Given the description of an element on the screen output the (x, y) to click on. 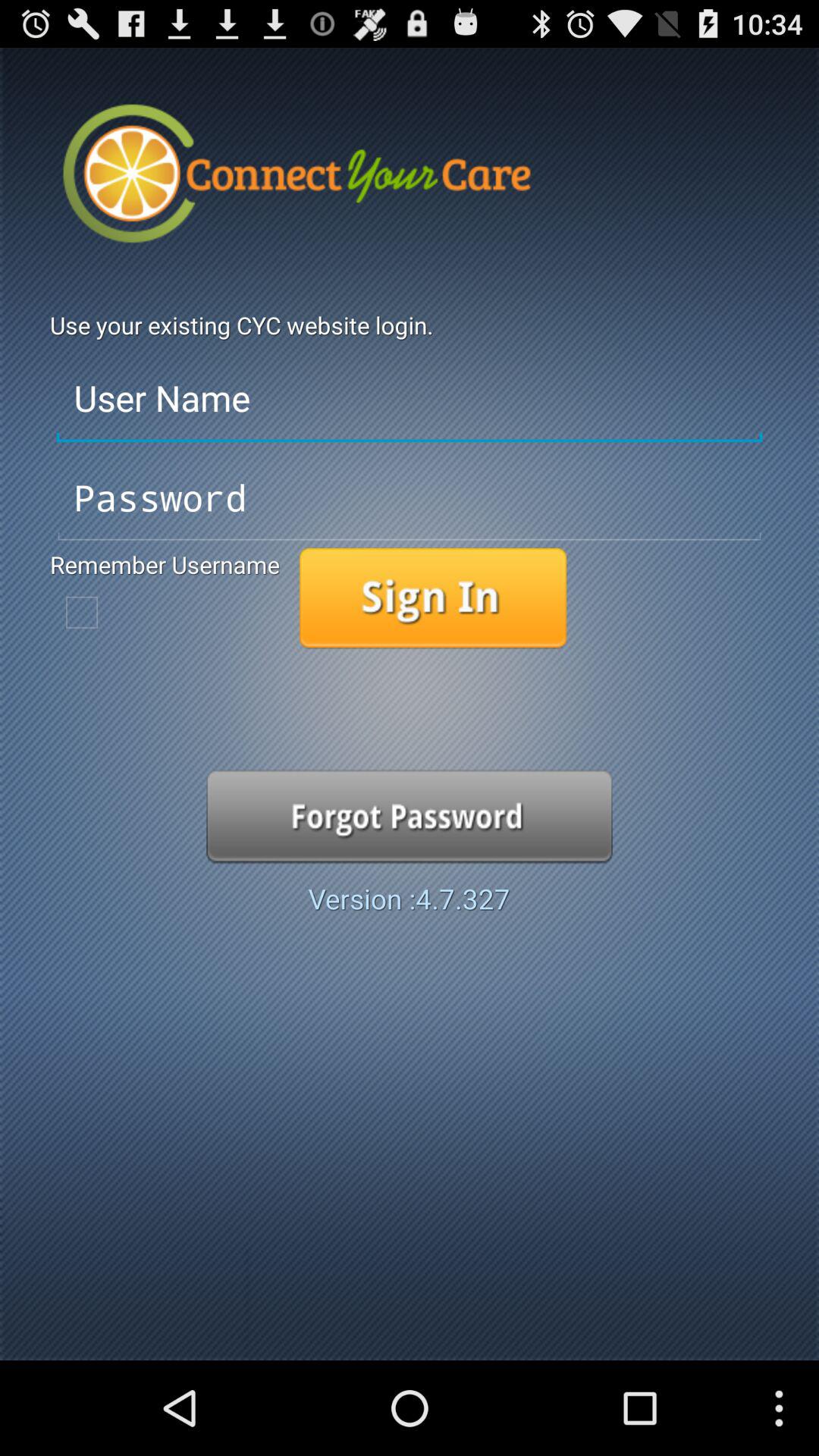
enter the user name (409, 398)
